Given the description of an element on the screen output the (x, y) to click on. 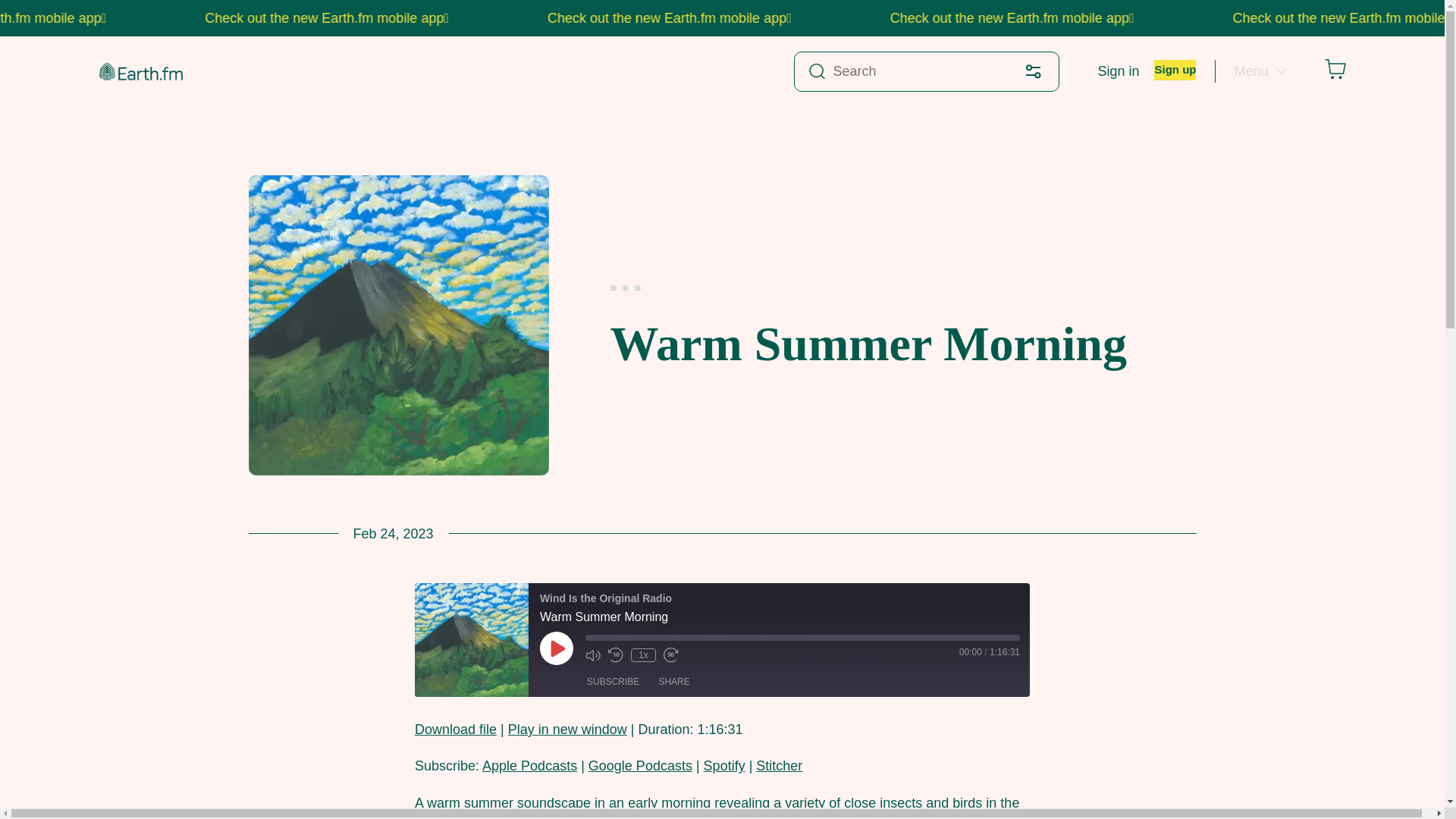
Apple Podcasts (528, 765)
Menu (1259, 71)
Apple Podcasts (528, 765)
Stitcher (778, 765)
Stitcher (778, 765)
Sign in (1117, 71)
Spotify (724, 765)
Download file (455, 729)
Warm Summer Morning  (455, 729)
Warm Summer Morning  (567, 729)
